Given the description of an element on the screen output the (x, y) to click on. 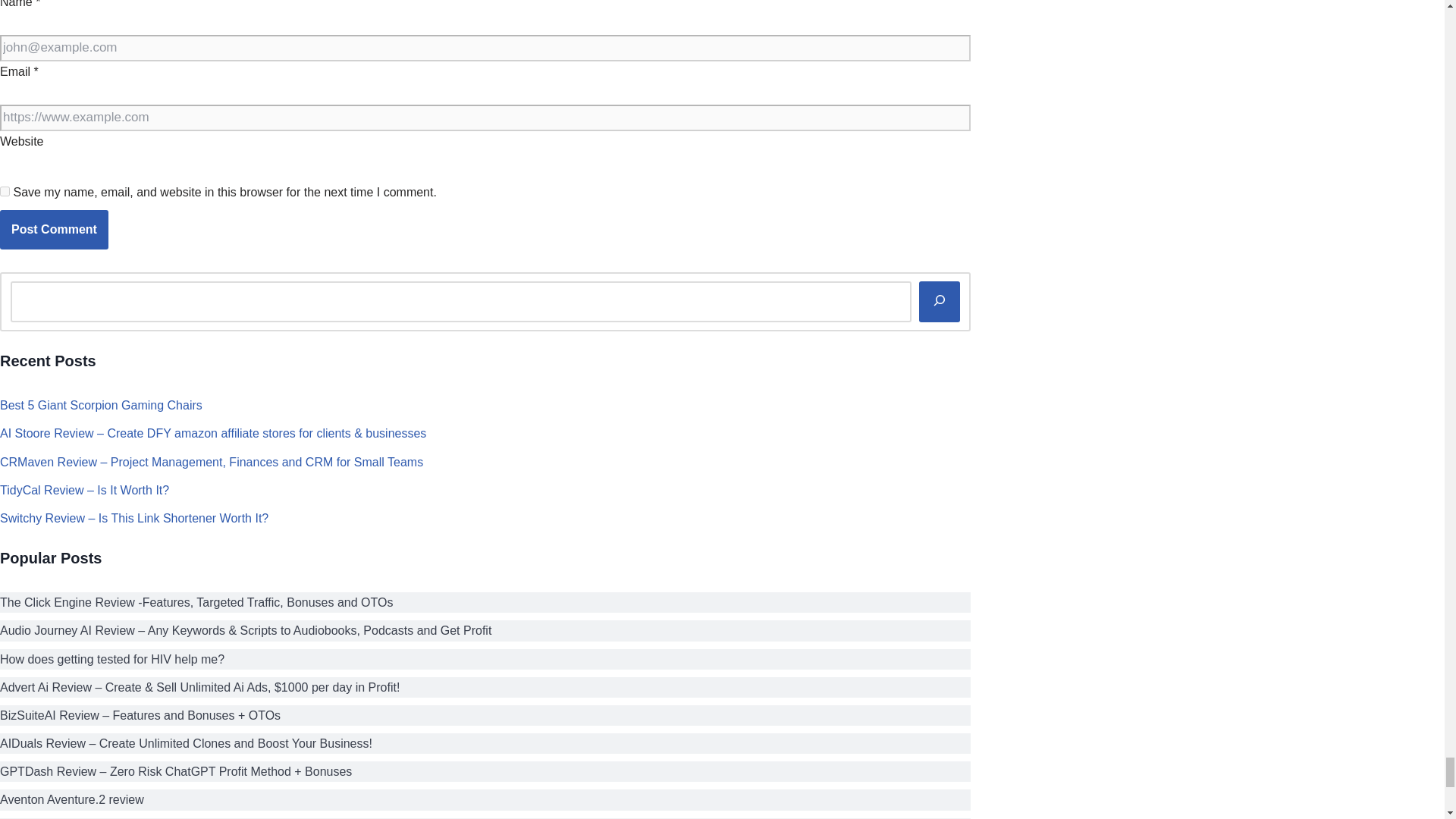
Post Comment (53, 229)
yes (5, 191)
